Given the description of an element on the screen output the (x, y) to click on. 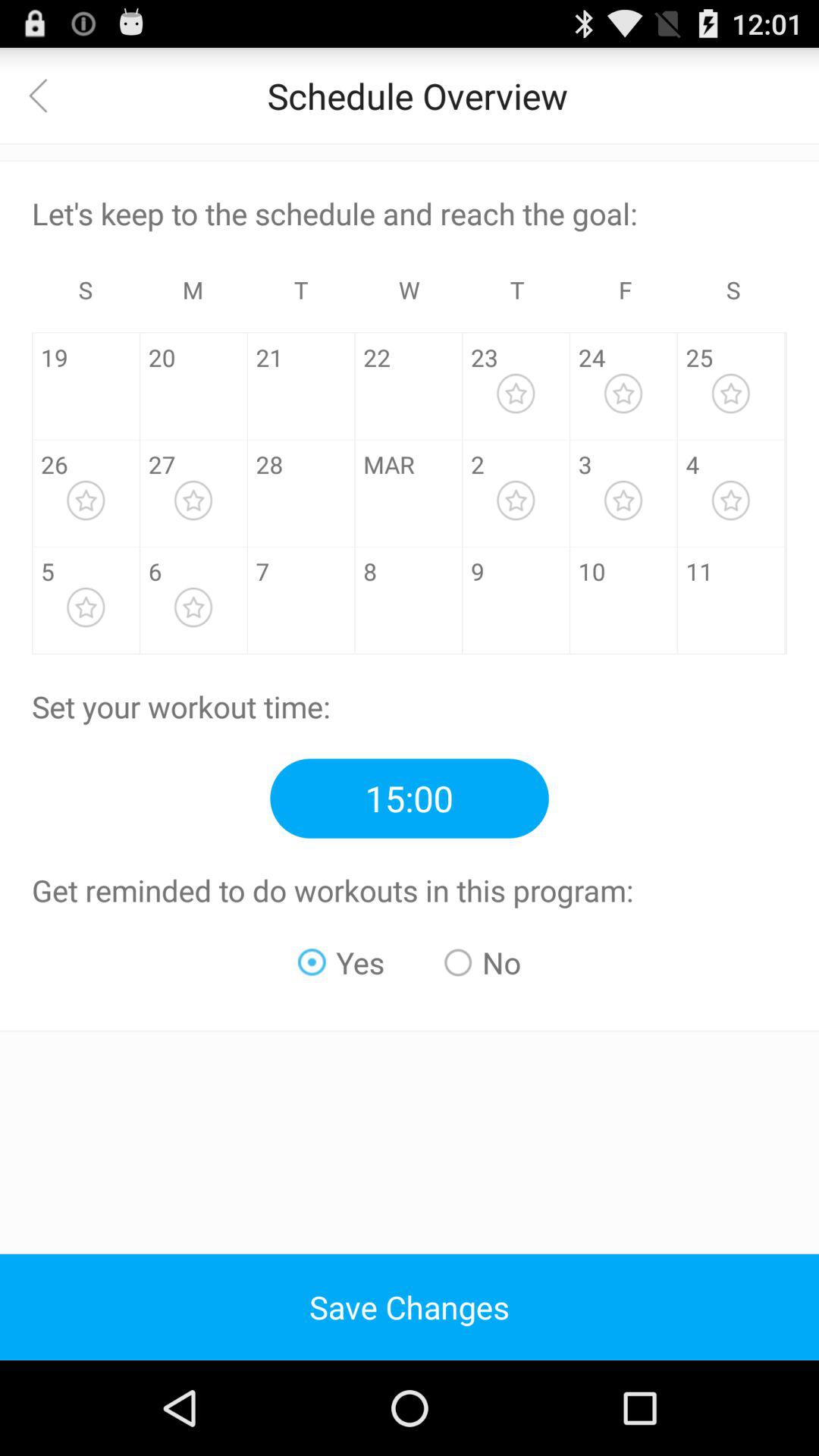
go back option (47, 95)
